Given the description of an element on the screen output the (x, y) to click on. 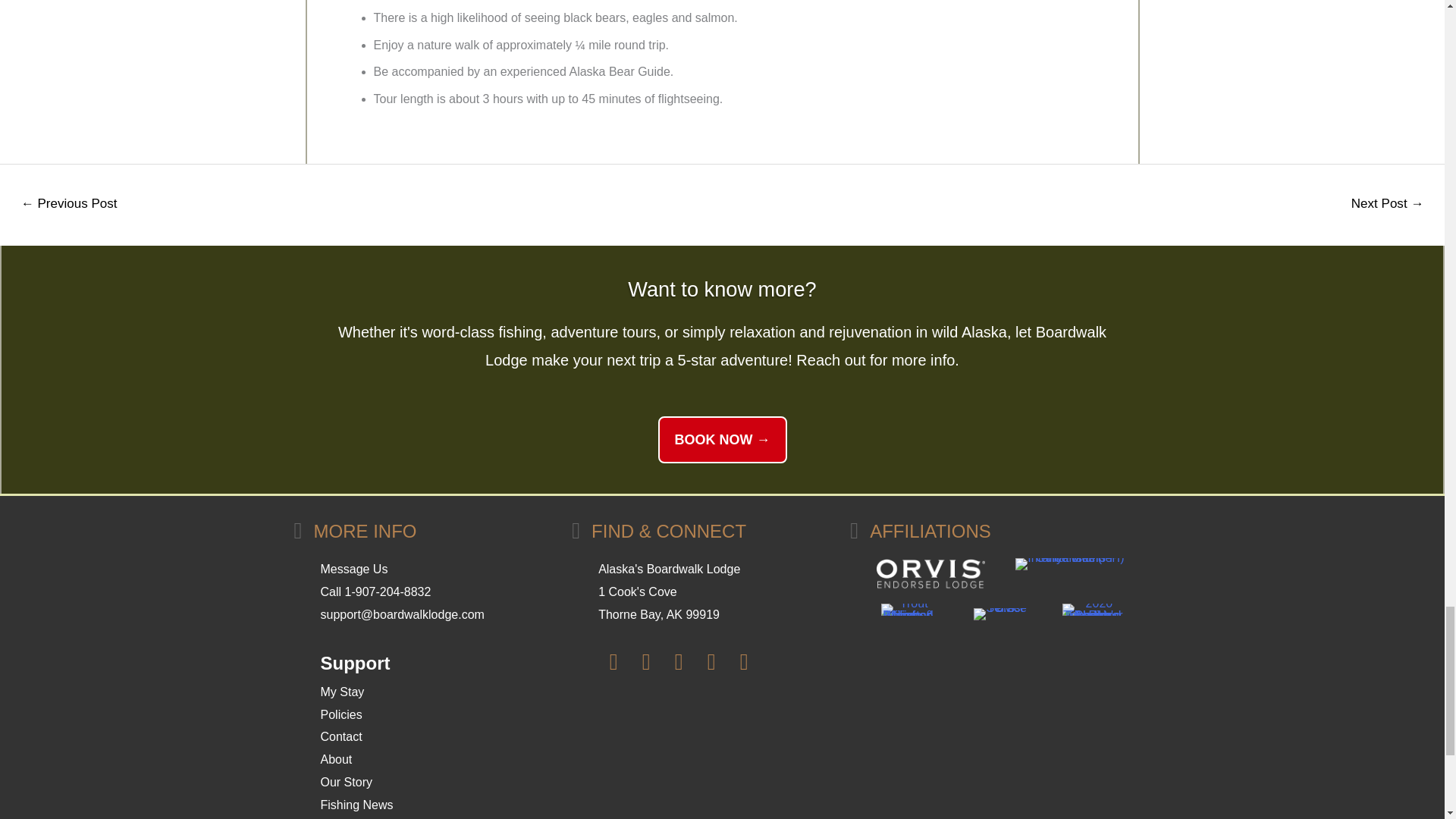
Facebook (613, 662)
Email (743, 662)
orvis-endorsed-fly-fishing-lodge-logo-600 (930, 572)
LinkedIn (710, 662)
Trout-Unlimited-Logo-600 (907, 609)
YouTube (678, 662)
usda-logo-tongass-national-forest (1000, 613)
